Given the description of an element on the screen output the (x, y) to click on. 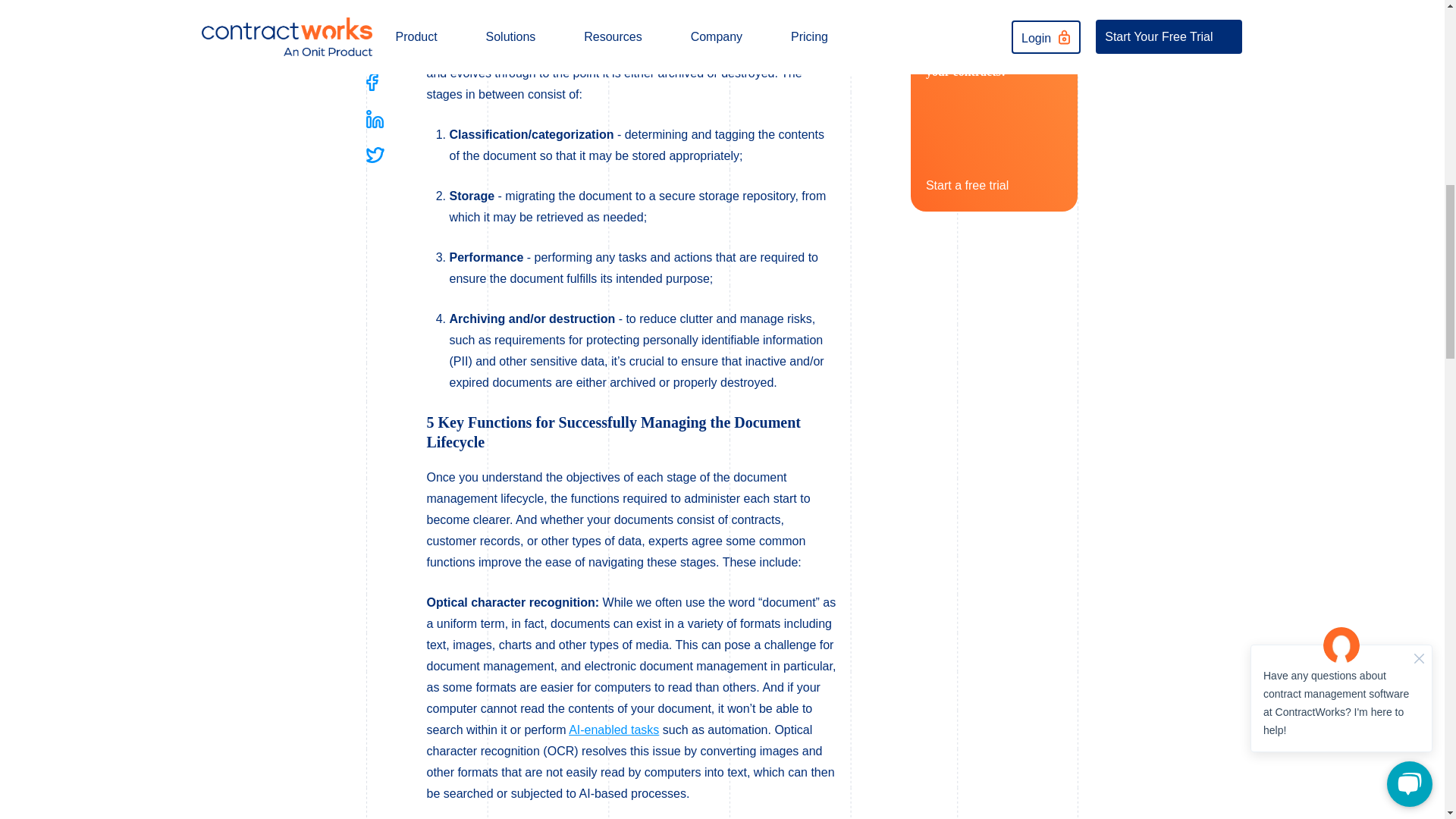
Start a free trial (976, 182)
